Given the description of an element on the screen output the (x, y) to click on. 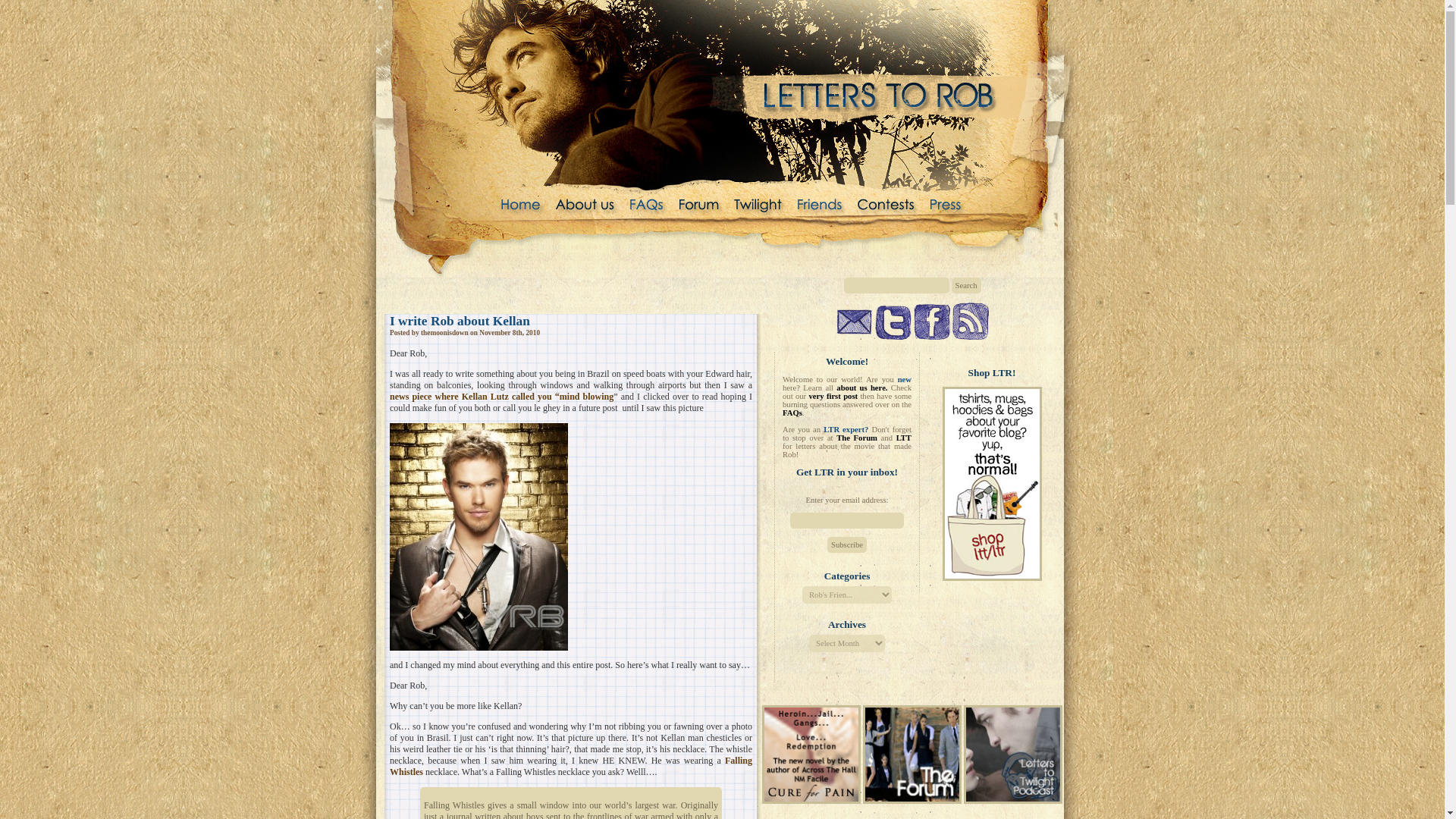
Falling Whistles (571, 766)
I write Rob about Kellan (459, 320)
Subscribe to our posts! (970, 320)
LTT Forum (911, 800)
Facebook. Let's DO this! (930, 321)
Permanent Link to I write Rob about Kellan (459, 320)
Cure for Pain (810, 754)
Search (964, 285)
LTT Podcast (1012, 754)
We love to Tweet! (893, 322)
Subscribe (846, 544)
